Given the description of an element on the screen output the (x, y) to click on. 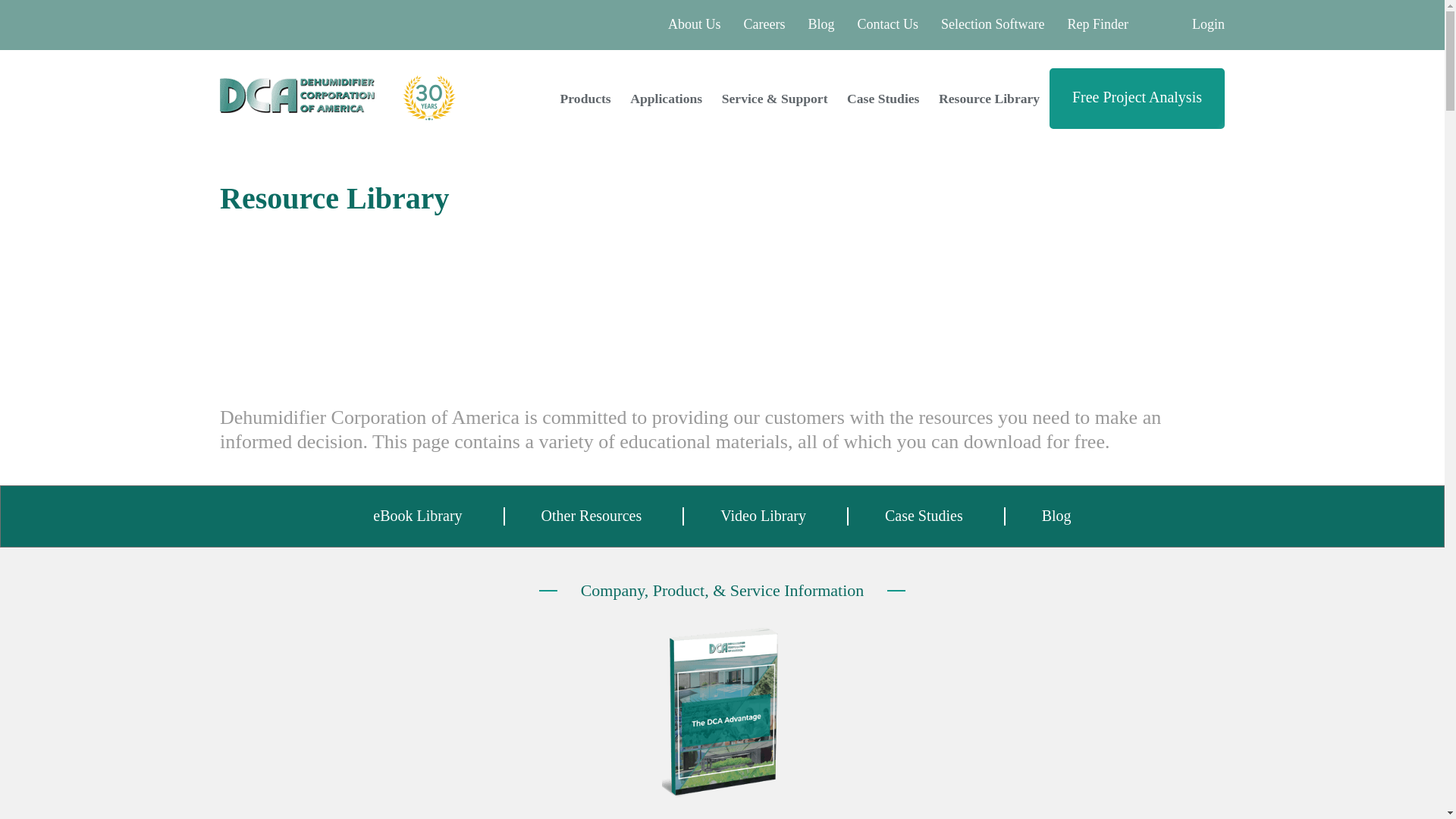
About Us (694, 23)
Login (1208, 23)
Other Resources (591, 515)
Selection Software (991, 23)
eBook Library (416, 515)
Video Library (763, 515)
Celebrating 30th year (429, 97)
Blog (1056, 515)
Case Studies (924, 515)
Rep Finder (1118, 23)
